Given the description of an element on the screen output the (x, y) to click on. 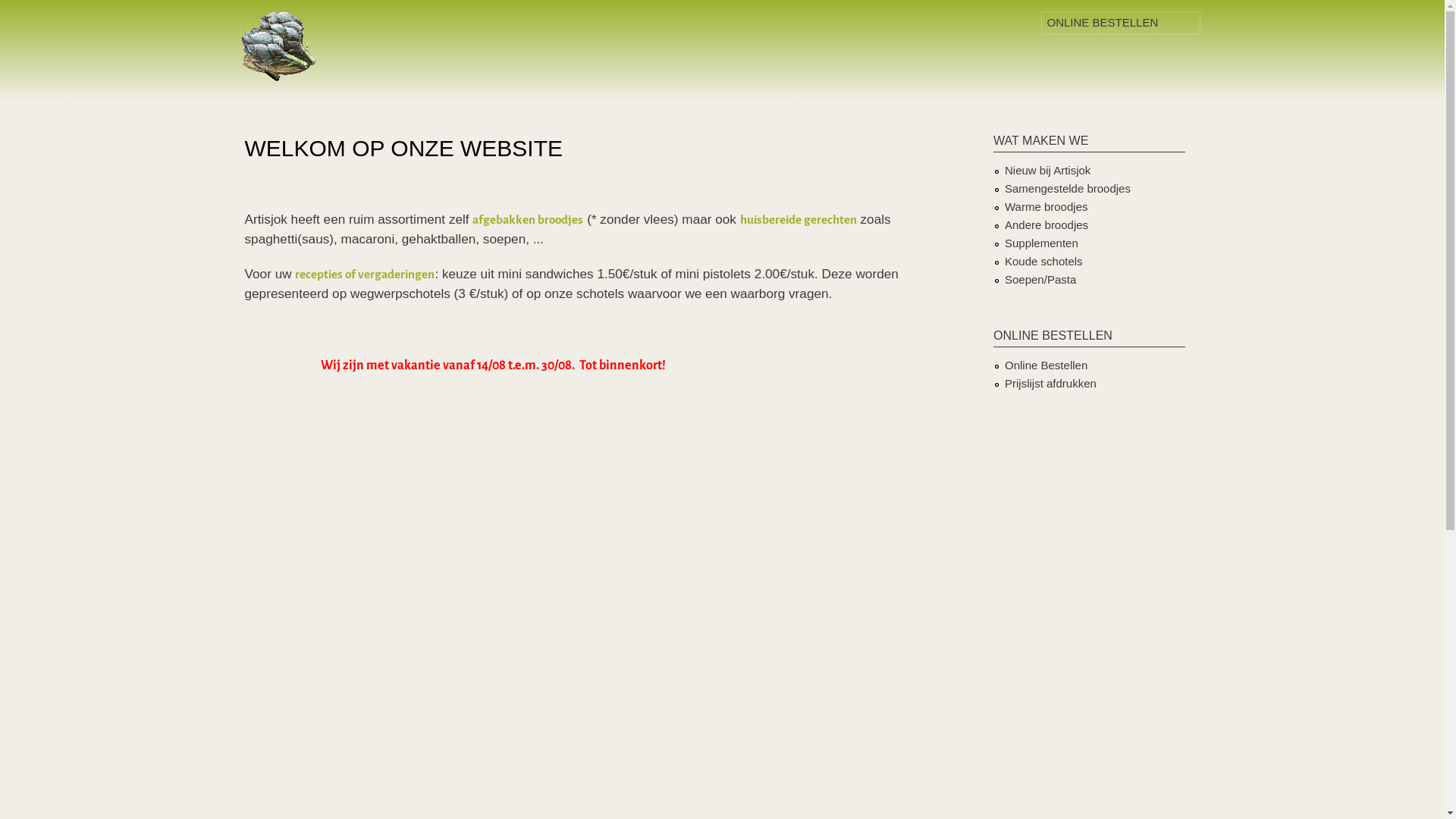
Prijslijst afdrukken Element type: text (1050, 382)
Overslaan en naar de inhoud gaan Element type: text (694, 1)
Online Bestellen Element type: text (1045, 364)
Koude schotels Element type: text (1043, 260)
Warme broodjes Element type: text (1045, 206)
Supplementen Element type: text (1041, 242)
Soepen/Pasta Element type: text (1040, 279)
ONLINE BESTELLEN Element type: text (1120, 23)
Home Element type: hover (280, 49)
Andere broodjes Element type: text (1046, 224)
Nieuw bij Artisjok Element type: text (1047, 169)
Samengestelde broodjes Element type: text (1067, 188)
